Given the description of an element on the screen output the (x, y) to click on. 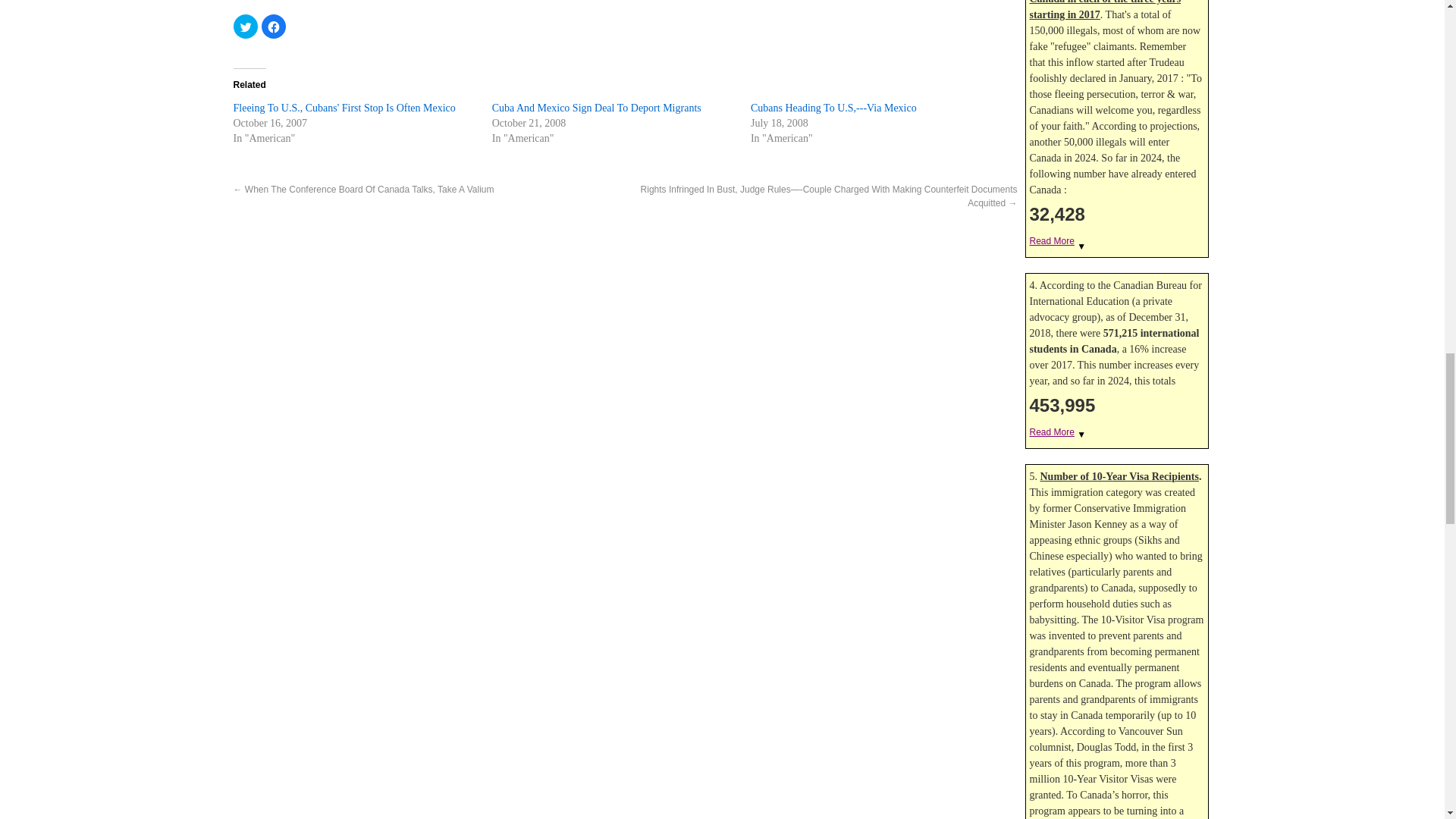
Click to share on Facebook (272, 26)
Cubans Heading To U.S,---Via Mexico (834, 107)
Click to share on Twitter (244, 26)
Cuba And Mexico Sign Deal To Deport Migrants (596, 107)
Fleeing To U.S., Cubans' First Stop Is Often Mexico (343, 107)
